Given the description of an element on the screen output the (x, y) to click on. 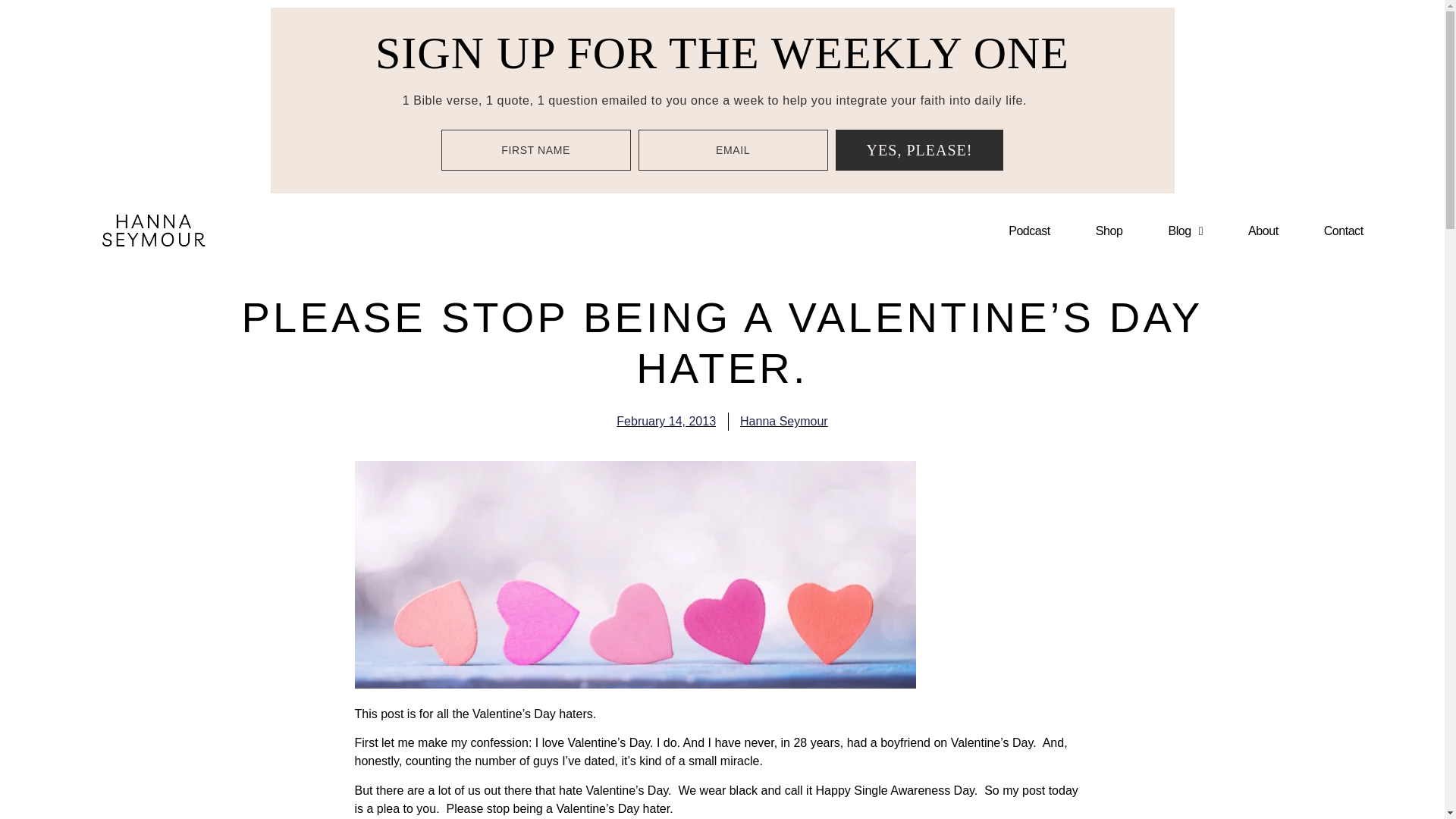
YES, PLEASE! (919, 149)
About (1262, 231)
Podcast (1029, 231)
Blog (1184, 231)
February 14, 2013 (665, 421)
Contact (1343, 231)
Shop (1109, 231)
Hanna Seymour (783, 421)
